Given the description of an element on the screen output the (x, y) to click on. 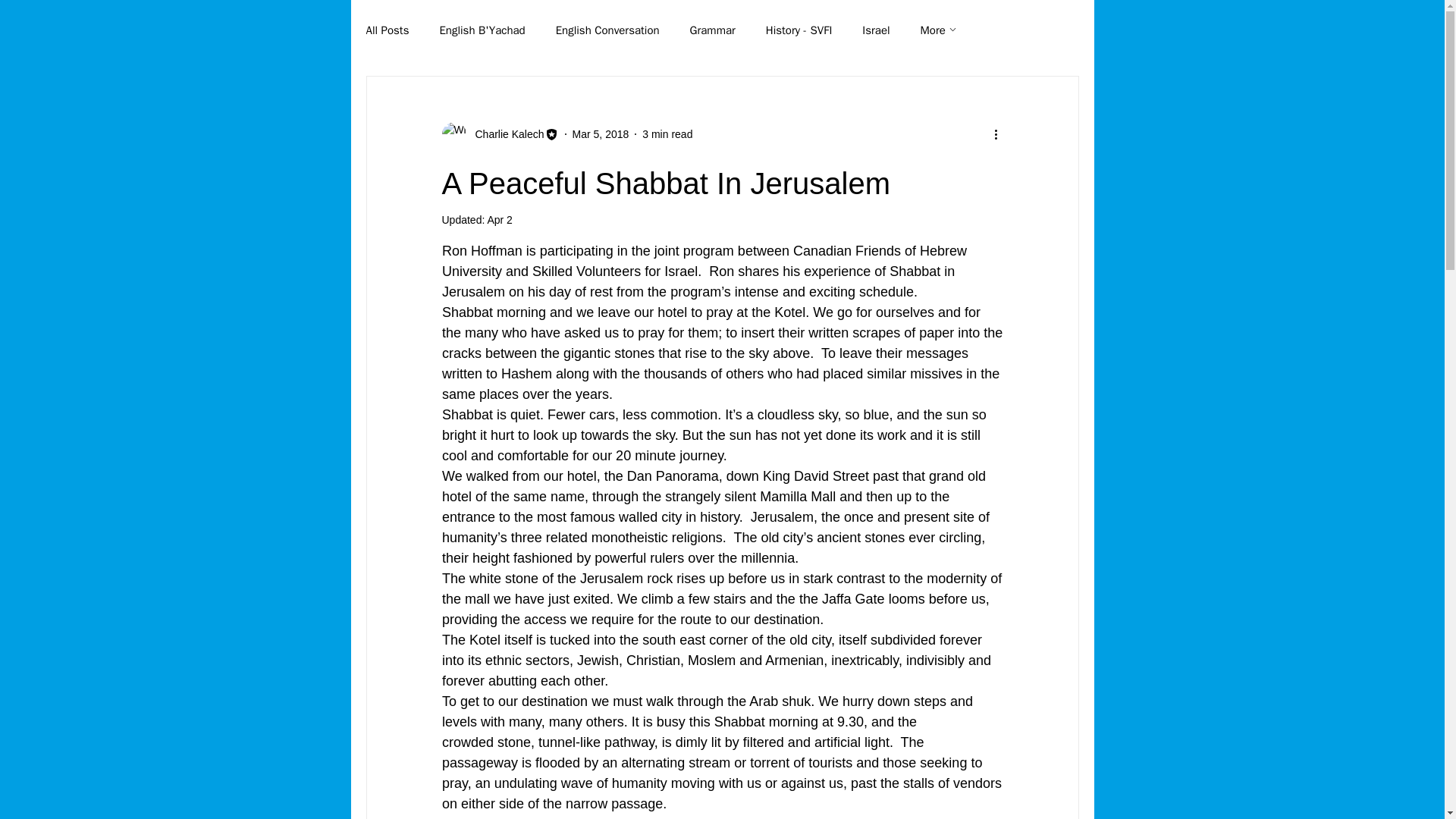
3 min read (667, 133)
Charlie Kalech (504, 133)
English B'Yachad (481, 29)
Mar 5, 2018 (600, 133)
All Posts (387, 29)
English Conversation (607, 29)
Charlie Kalech (499, 134)
Israel (875, 29)
Grammar (712, 29)
Apr 2 (499, 219)
History - SVFI (798, 29)
